Given the description of an element on the screen output the (x, y) to click on. 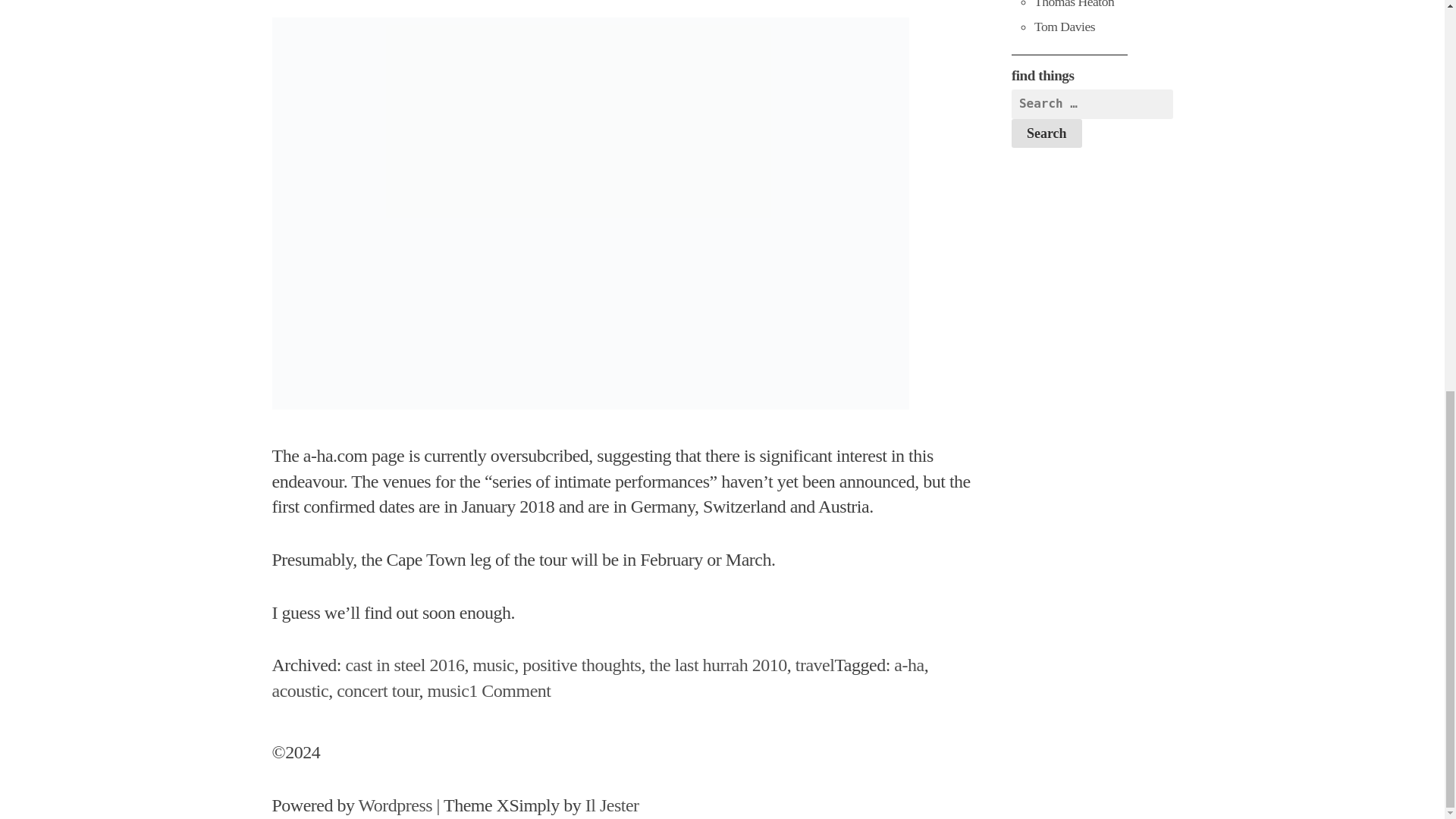
Geoguessr God (1063, 26)
Search (1046, 133)
music (447, 690)
cast in steel 2016 (509, 690)
Search (404, 664)
music (1046, 133)
acoustic (492, 664)
positive thoughts (299, 690)
a-ha (581, 664)
